Given the description of an element on the screen output the (x, y) to click on. 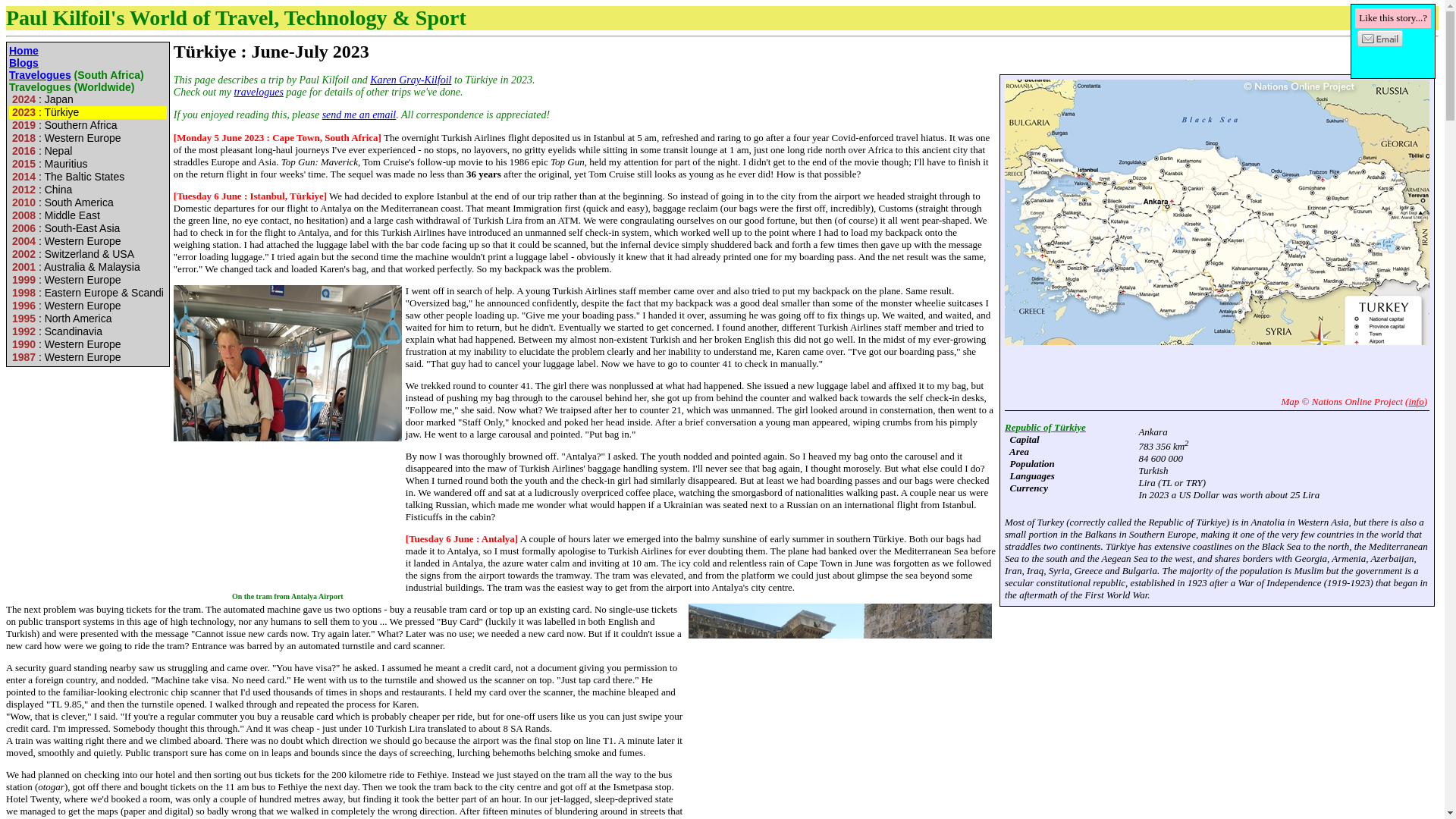
Jordan, United Arab Emirates (54, 215)
Estonia, Latvia, Lithuania, Turkey (65, 176)
Nepal (39, 150)
 1992 : Scandinavia (54, 331)
 2018 : Western Europe (64, 137)
Australia, Malaysia (73, 266)
Random musings from the southern tip of Africa (23, 62)
Peru, Bolivia, Argentina (60, 202)
info (1415, 401)
South Africa, Namibia, Botswana, Zambia, Malawi, Mozambique (62, 124)
